Given the description of an element on the screen output the (x, y) to click on. 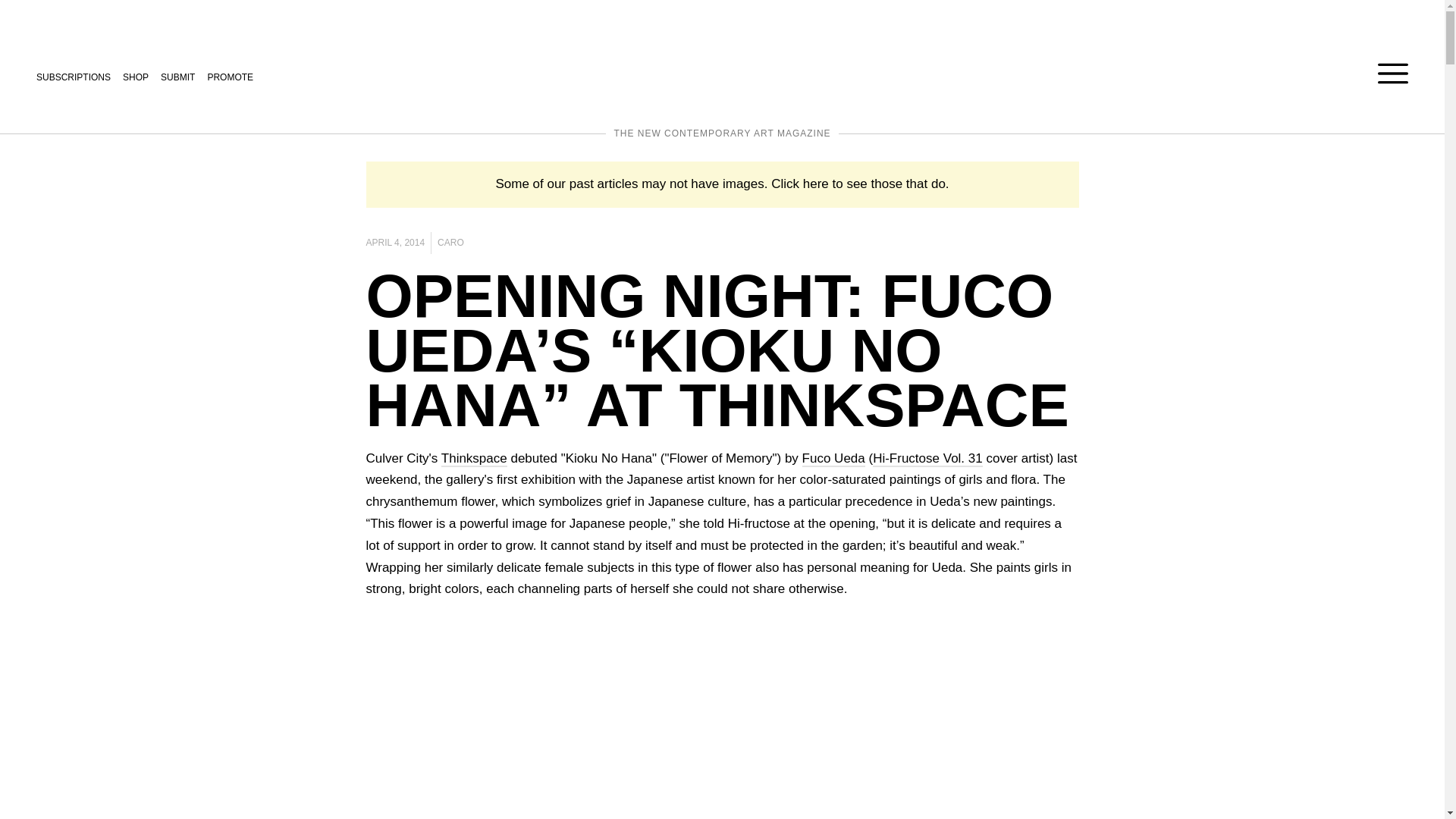
Thinkspace (473, 458)
Hi-Fructose Vol. 31 (927, 458)
SUBMIT (177, 76)
CARO (451, 242)
Fuco Ueda (833, 458)
SUBSCRIPTIONS (73, 76)
SHOP (135, 76)
PROMOTE (229, 76)
